Given the description of an element on the screen output the (x, y) to click on. 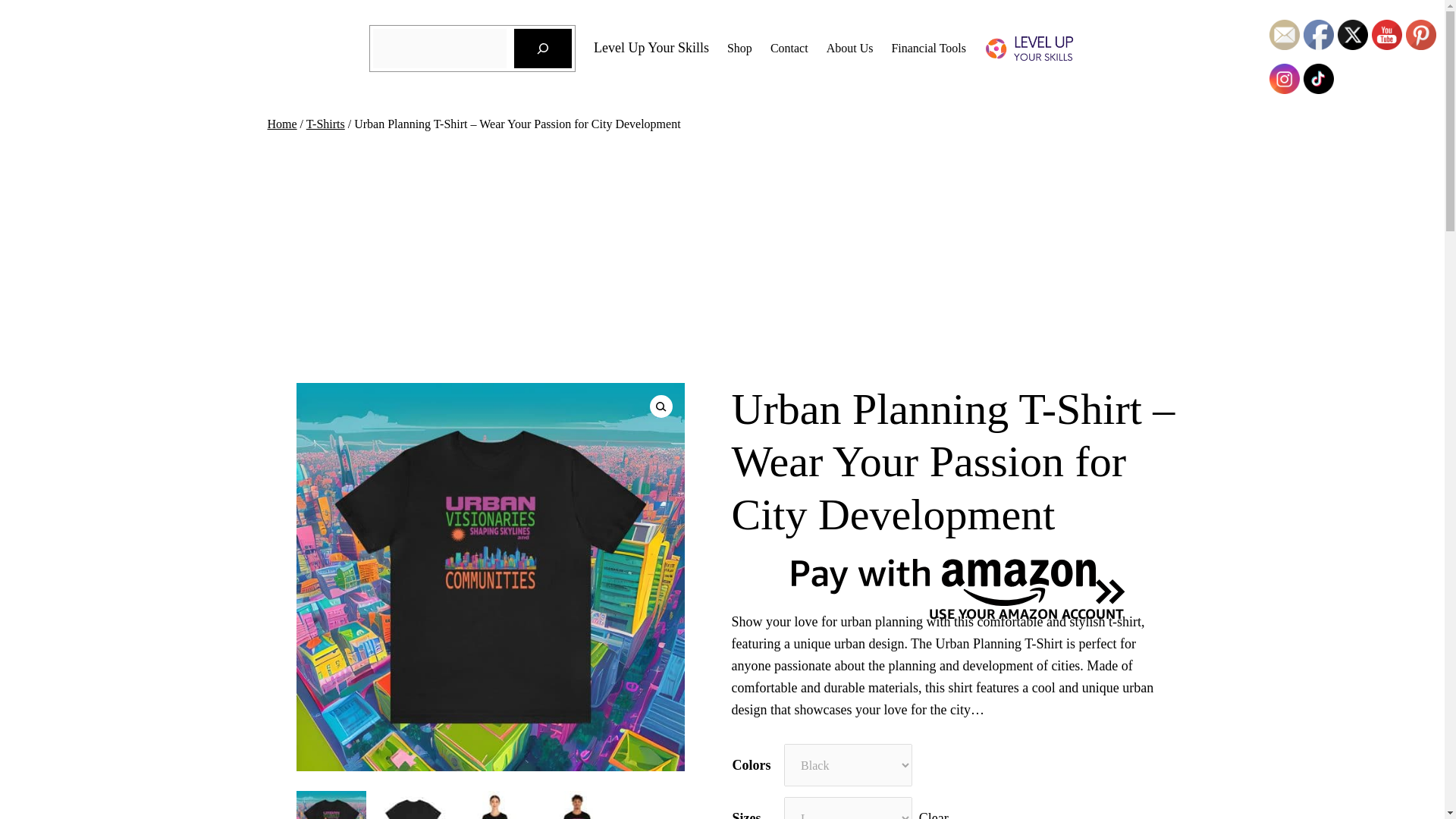
Shop (739, 48)
About Us (850, 48)
Level Up Your Skills (651, 47)
Clear (933, 814)
T-Shirts (325, 123)
Home (281, 123)
Financial Tools (928, 48)
Contact (789, 48)
